Given the description of an element on the screen output the (x, y) to click on. 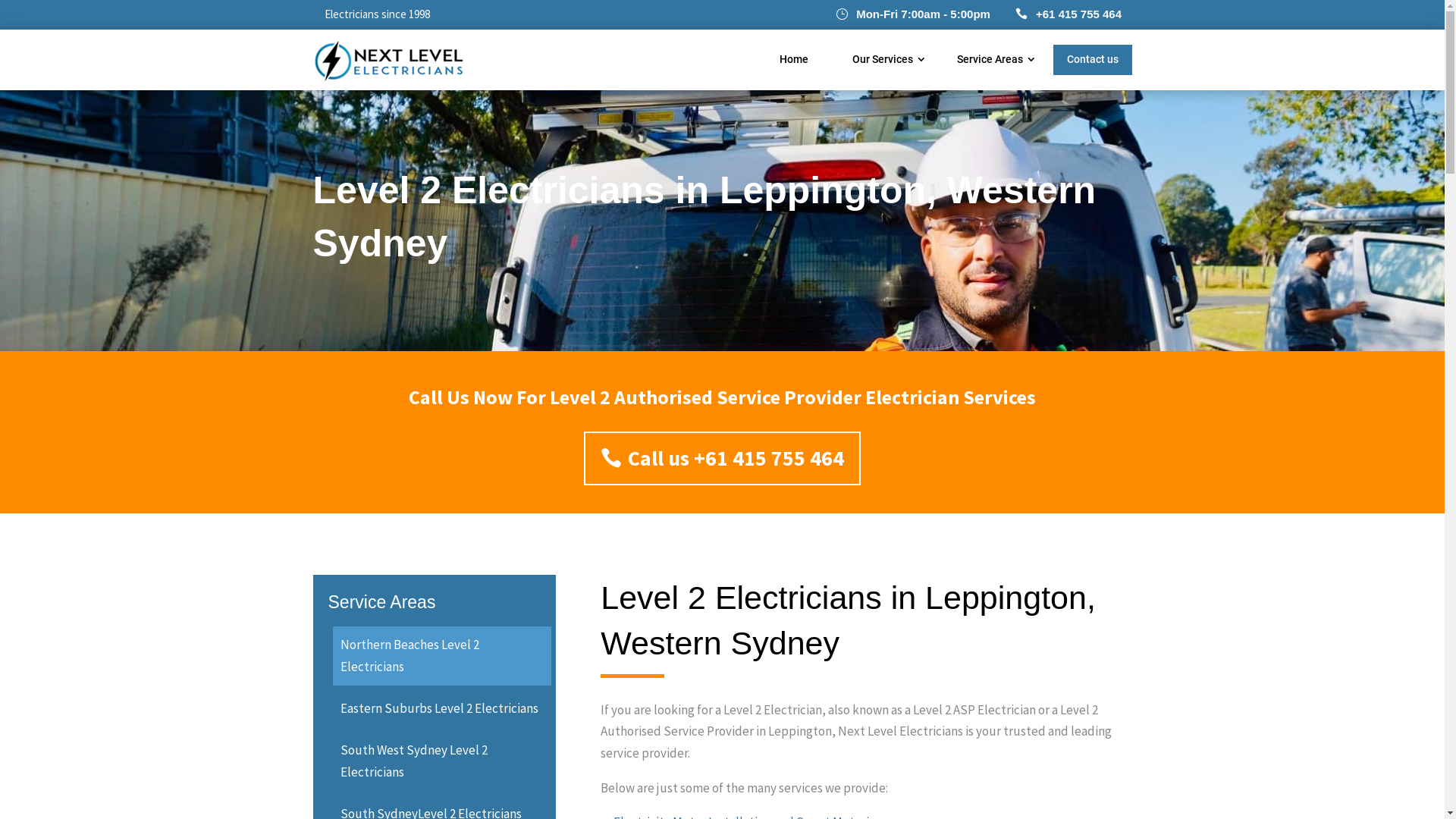
Home Element type: text (793, 59)
+61 415 755 464 Element type: text (1078, 13)
South West Sydney Level 2 Electricians Element type: text (441, 760)
Call us +61 415 755 464 Element type: text (721, 458)
Contact us Element type: text (1091, 59)
Northern Beaches Level 2 Electricians Element type: text (441, 655)
Eastern Suburbs Level 2 Electricians Element type: text (441, 708)
Our Services Element type: text (882, 59)
Service Areas Element type: text (989, 59)
